Given the description of an element on the screen output the (x, y) to click on. 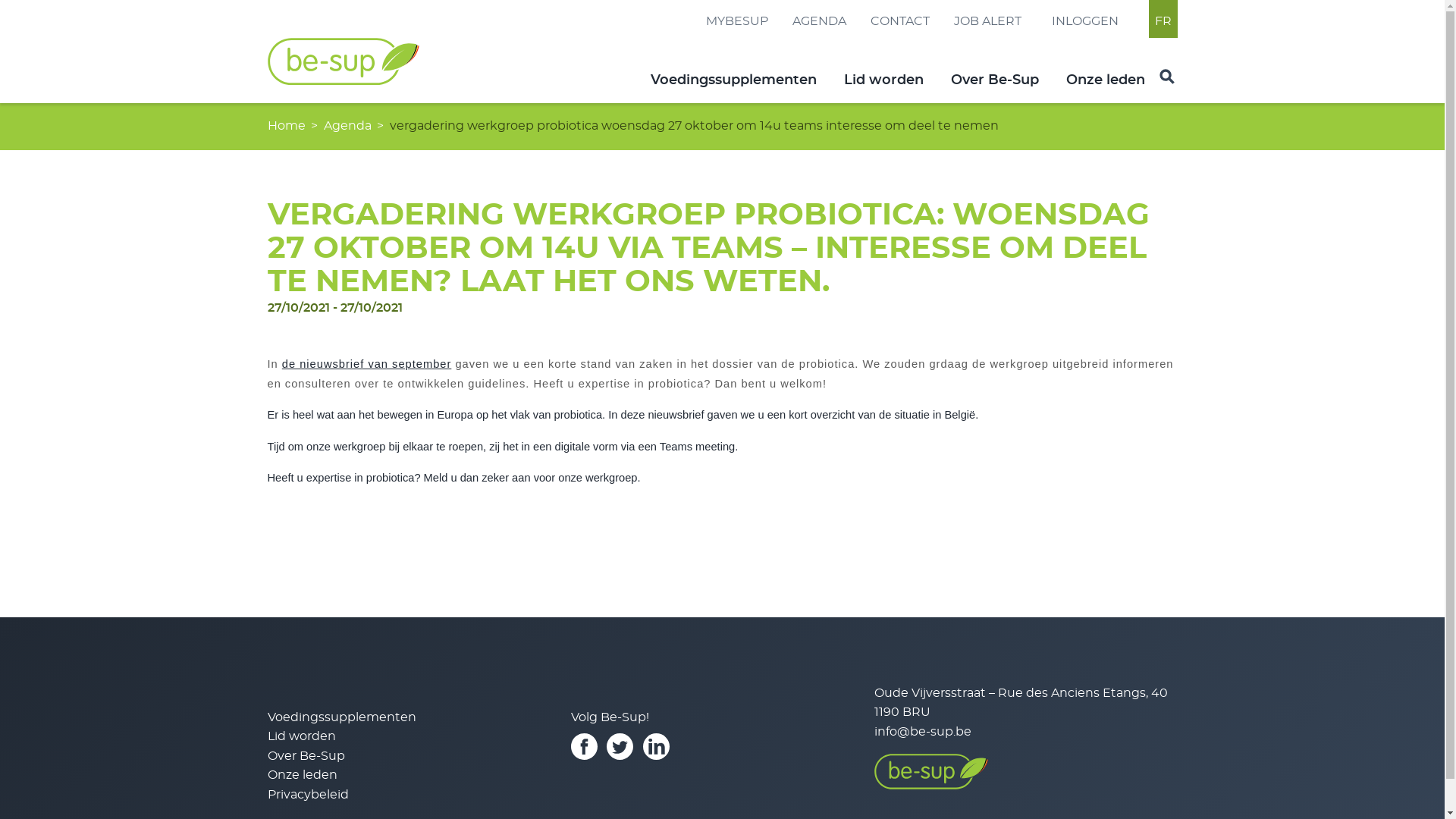
MYBESUP Element type: text (736, 21)
AGENDA Element type: text (818, 21)
Overslaan en naar de inhoud gaan Element type: text (0, 101)
FR Element type: text (1162, 21)
CONTACT Element type: text (899, 21)
Onze leden Element type: text (301, 774)
Lid worden Element type: text (300, 736)
de nieuwsbrief van september Element type: text (366, 363)
Onze leden Element type: text (1105, 80)
Voedingssupplementen Element type: text (340, 717)
INLOGGEN Element type: text (1084, 21)
Agenda Element type: text (347, 125)
Over Be-Sup Element type: text (994, 80)
Voedingssupplementen Element type: text (733, 80)
Over Be-Sup Element type: text (305, 755)
info@be-sup.be Element type: text (921, 731)
Privacybeleid Element type: text (307, 794)
Home Element type: hover (342, 81)
JOB ALERT Element type: text (987, 21)
Home Element type: text (285, 125)
Lid worden Element type: text (883, 80)
